Given the description of an element on the screen output the (x, y) to click on. 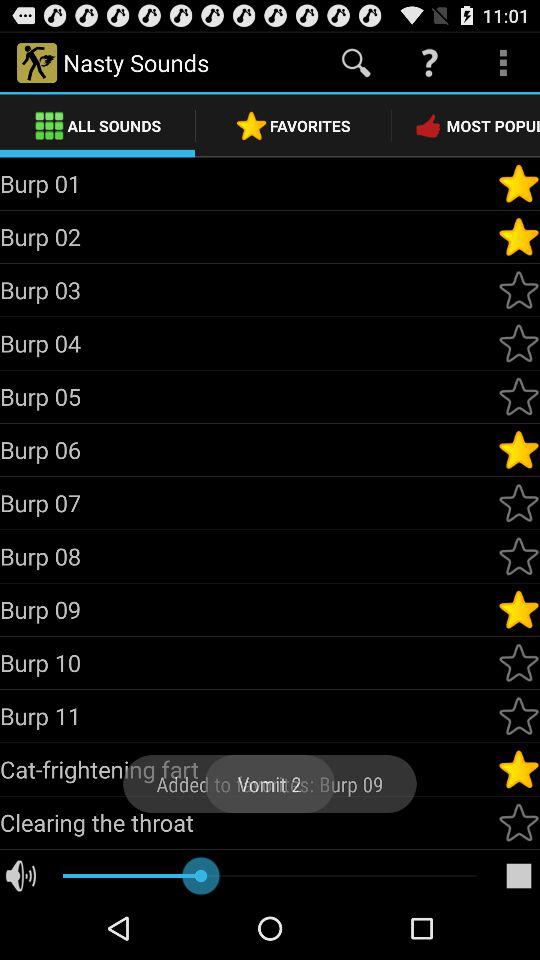
turn on burp 02 item (248, 236)
